Given the description of an element on the screen output the (x, y) to click on. 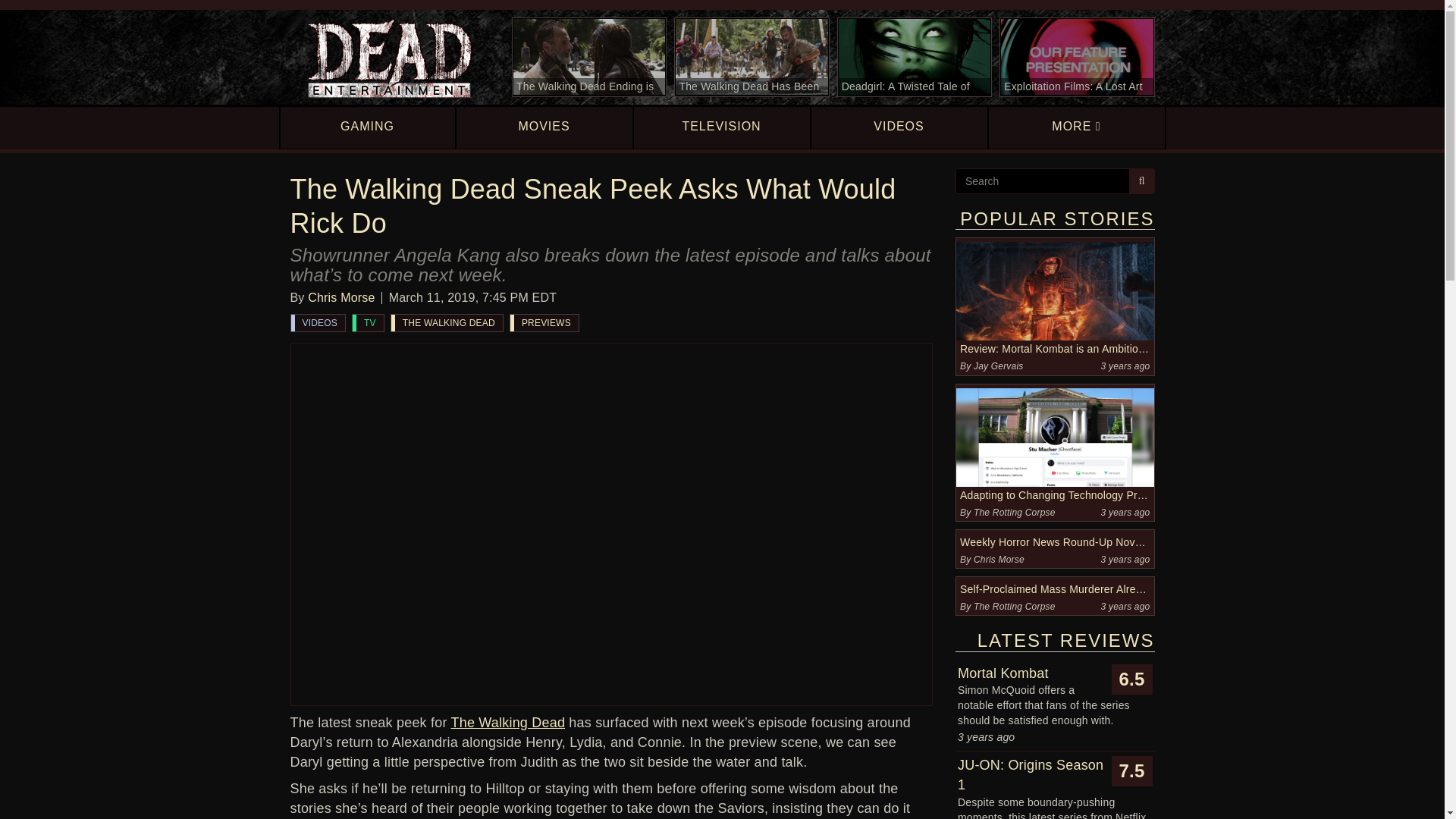
Chris Morse (340, 297)
TV (368, 322)
Exploitation Films: A Lost Art and Genre of Decades Past (1076, 57)
THE WALKING DEAD (446, 322)
Deadgirl: A Twisted Tale of Lust and "True" Love (914, 57)
PREVIEWS (544, 322)
VIDEOS (318, 322)
The Walking Dead (506, 722)
